Given the description of an element on the screen output the (x, y) to click on. 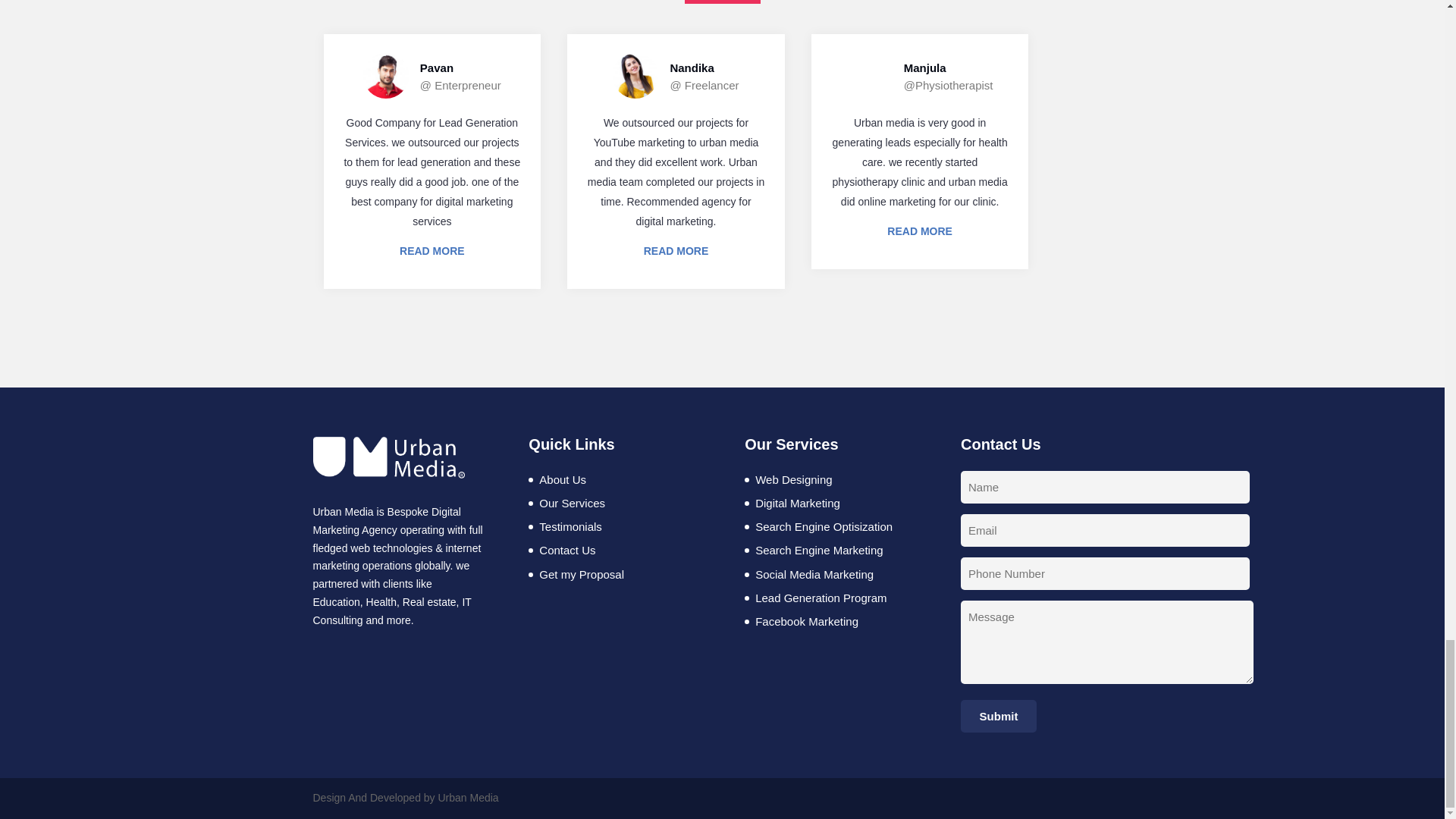
Search Engine Marketing (818, 549)
Contact Us (566, 549)
About Us (562, 479)
Web Designing (793, 479)
Digital Marketing (797, 502)
Submit (998, 716)
Get my Proposal (581, 574)
Testimonials (570, 526)
READ MORE (919, 231)
READ MORE (431, 250)
Lead Generation Program (820, 597)
READ MORE (676, 250)
Our Services (571, 502)
Search Engine Optisization (823, 526)
Social Media Marketing (814, 574)
